Given the description of an element on the screen output the (x, y) to click on. 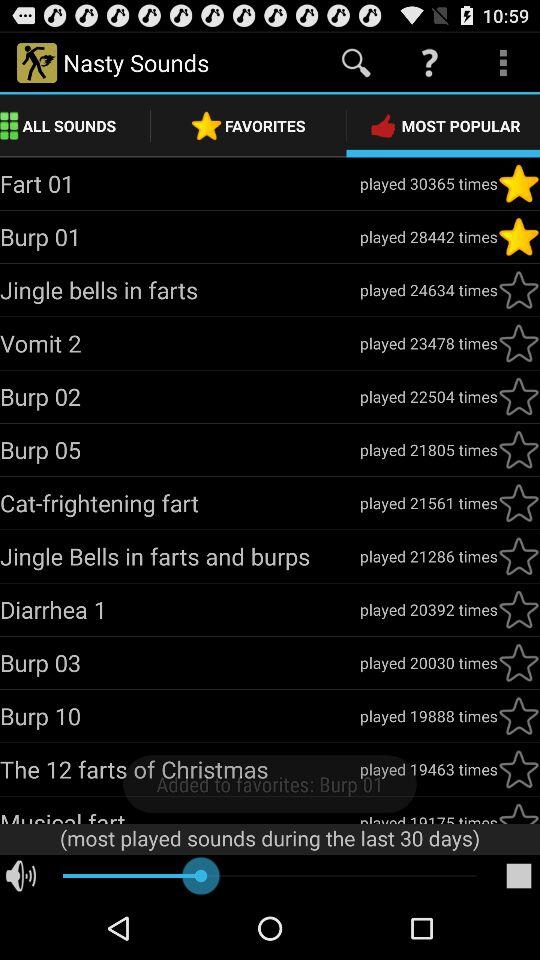
favorite (519, 290)
